Given the description of an element on the screen output the (x, y) to click on. 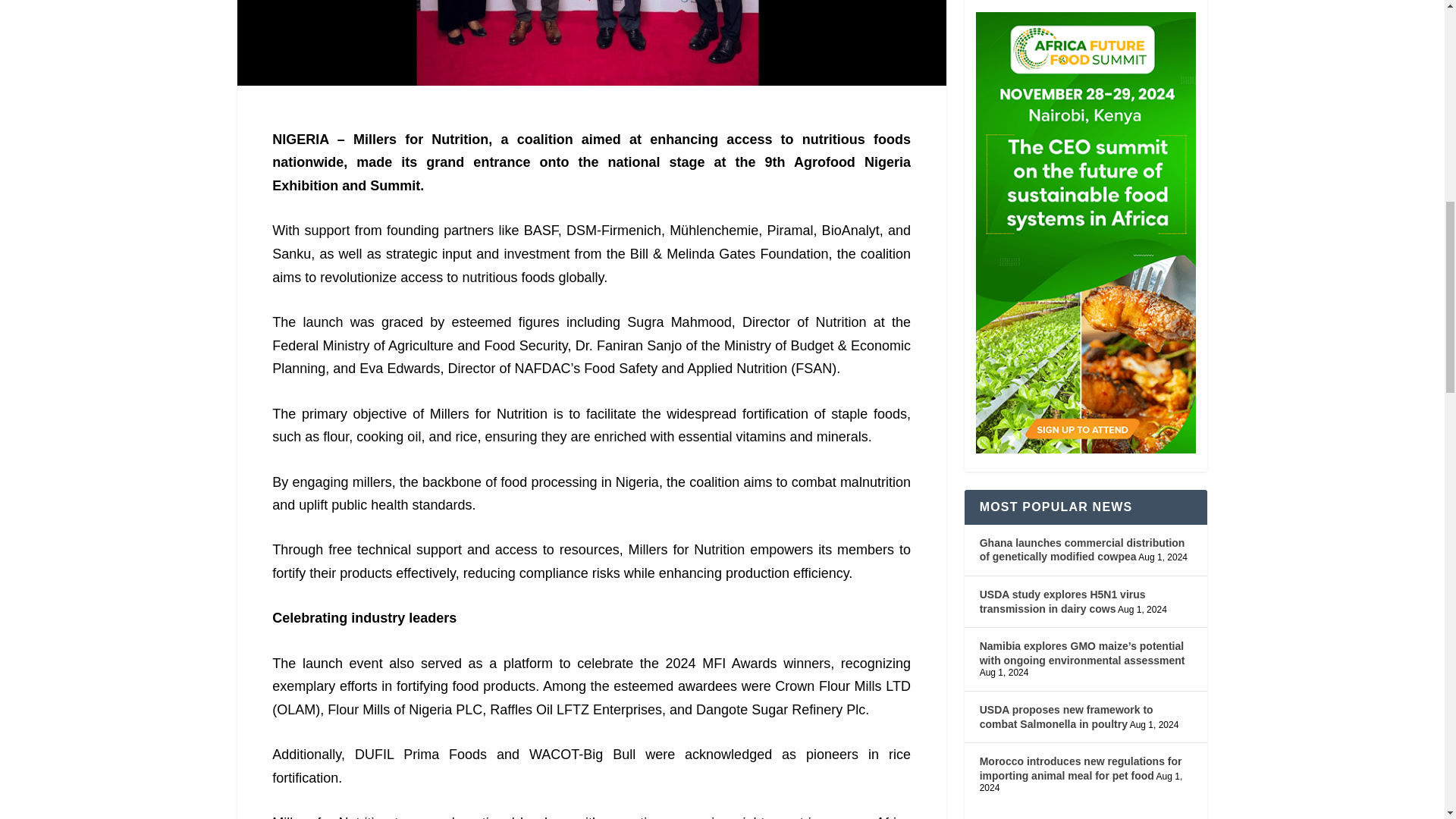
Awards (754, 663)
Nigeria (887, 161)
Africa (893, 816)
NAFDAC (541, 368)
